Given the description of an element on the screen output the (x, y) to click on. 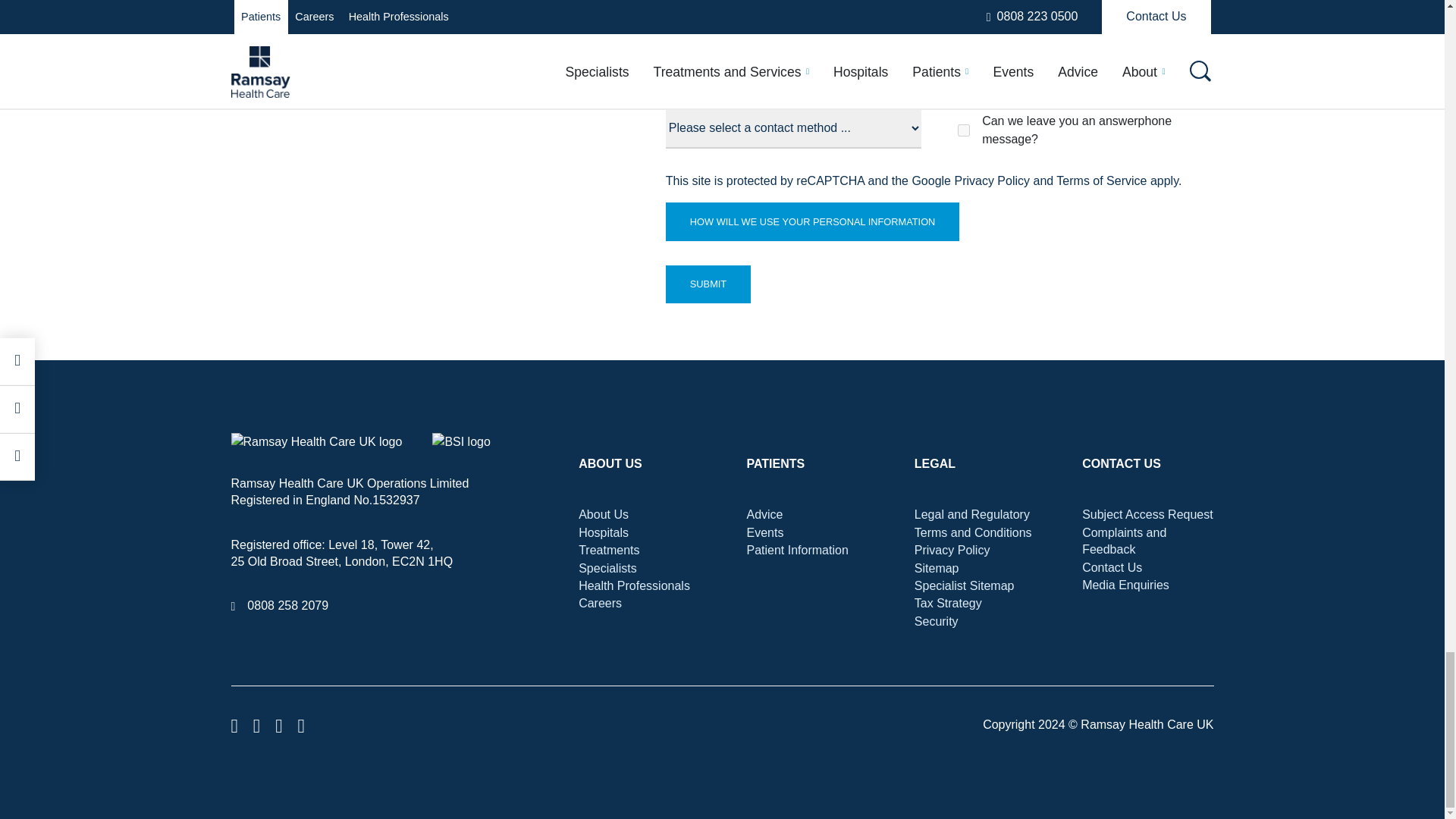
Submit (708, 284)
on (963, 130)
